Given the description of an element on the screen output the (x, y) to click on. 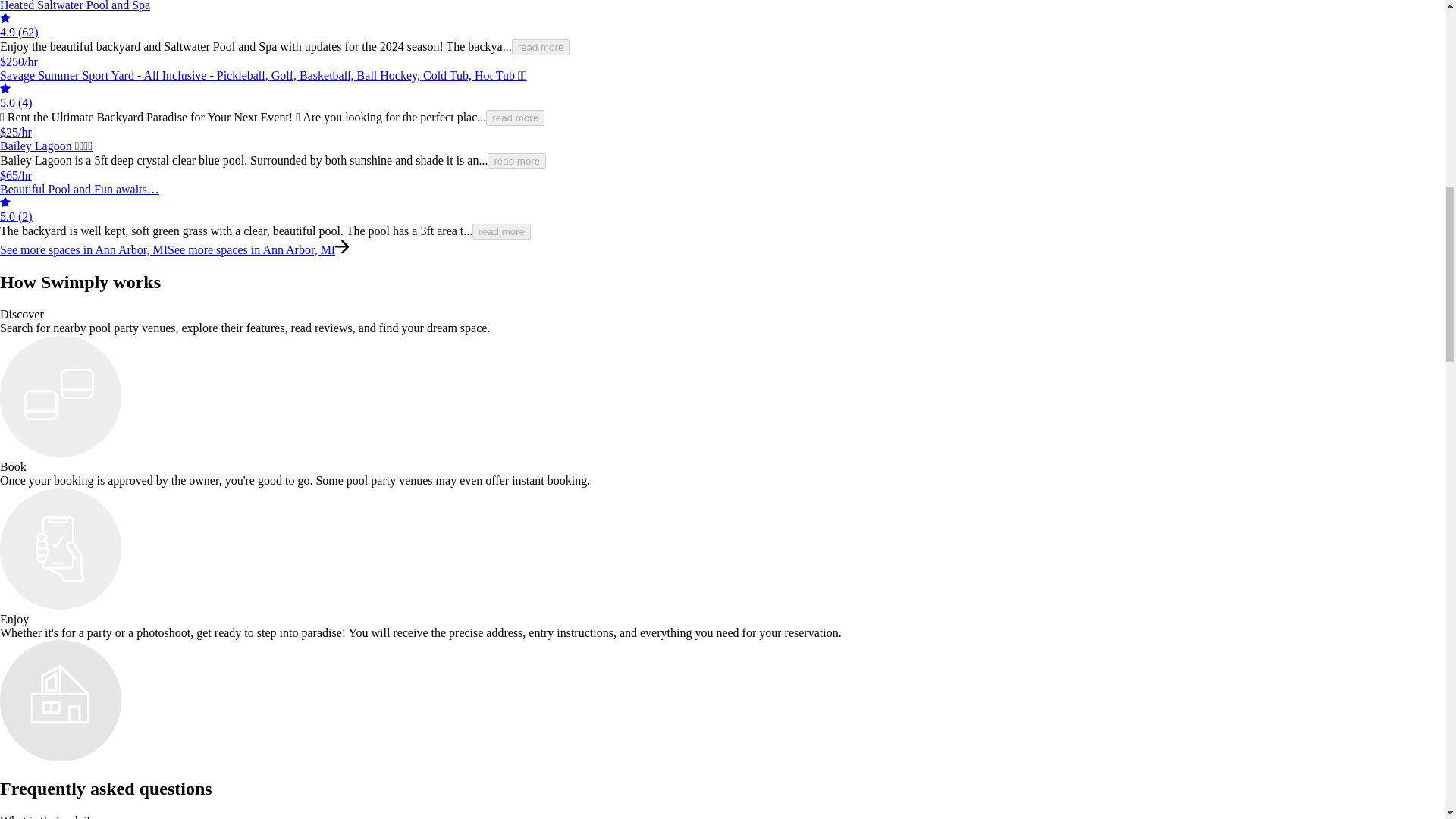
read more (541, 47)
See more spaces in Ann Arbor, MI (83, 249)
read more (516, 160)
See more spaces in Ann Arbor, MI (250, 249)
read more (515, 117)
read more (501, 231)
